Given the description of an element on the screen output the (x, y) to click on. 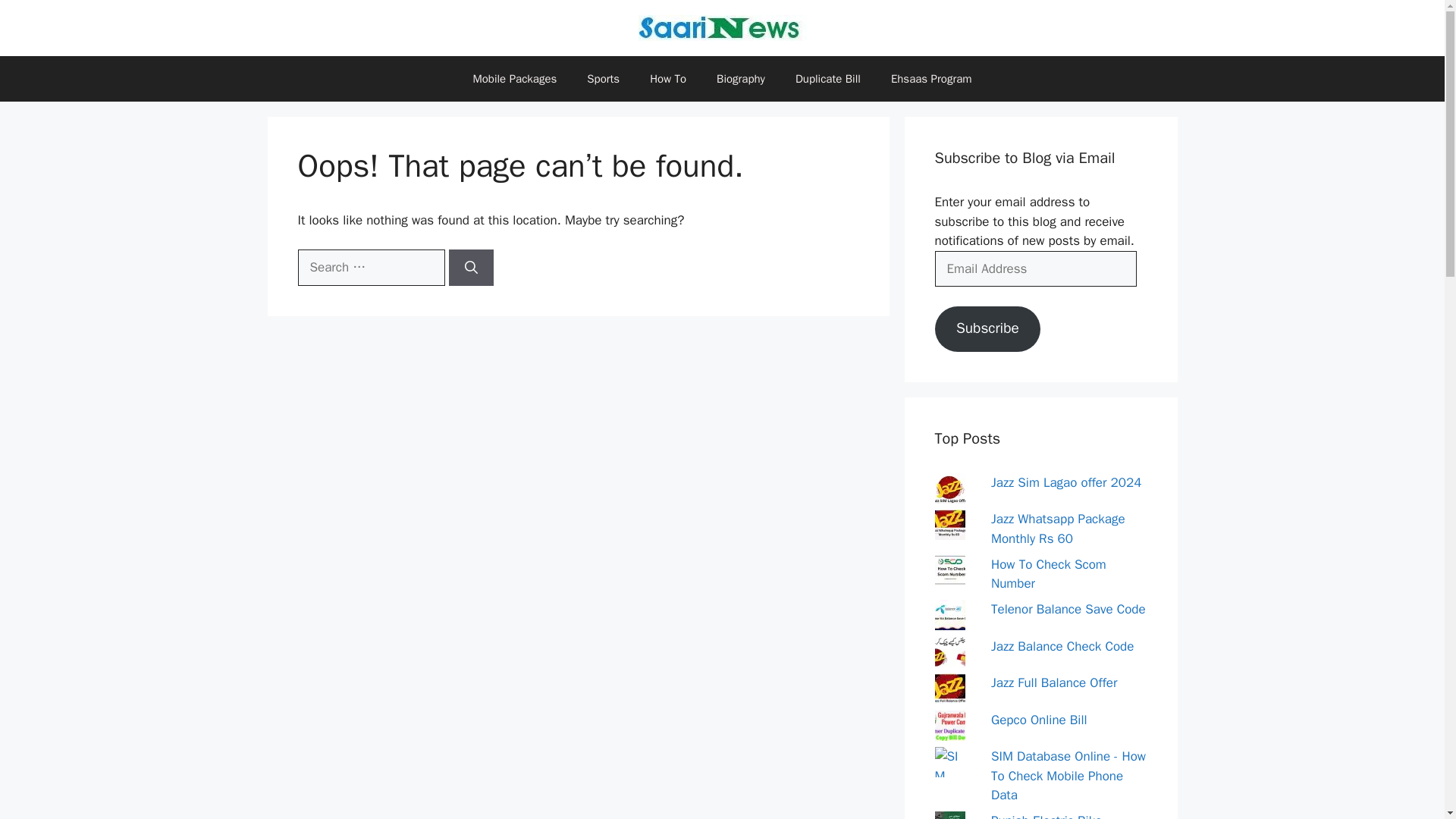
SIM Database Online - How To Check Mobile Phone Data (1068, 775)
Gepco Online Bill (1039, 719)
Ehsaas Program (931, 78)
How To Check Scom Number (1048, 574)
Jazz Balance Check Code (1062, 646)
Duplicate Bill (828, 78)
How To (667, 78)
Gepco Online Bill (1039, 719)
Telenor Balance Save Code (1068, 609)
Jazz Whatsapp Package Monthly Rs 60 (1058, 529)
Mobile Packages (514, 78)
Jazz Full Balance Offer (1053, 682)
Punjab Electric Bike Scheme Registration Online Apply (1049, 816)
Biography (740, 78)
Search for: (370, 267)
